Given the description of an element on the screen output the (x, y) to click on. 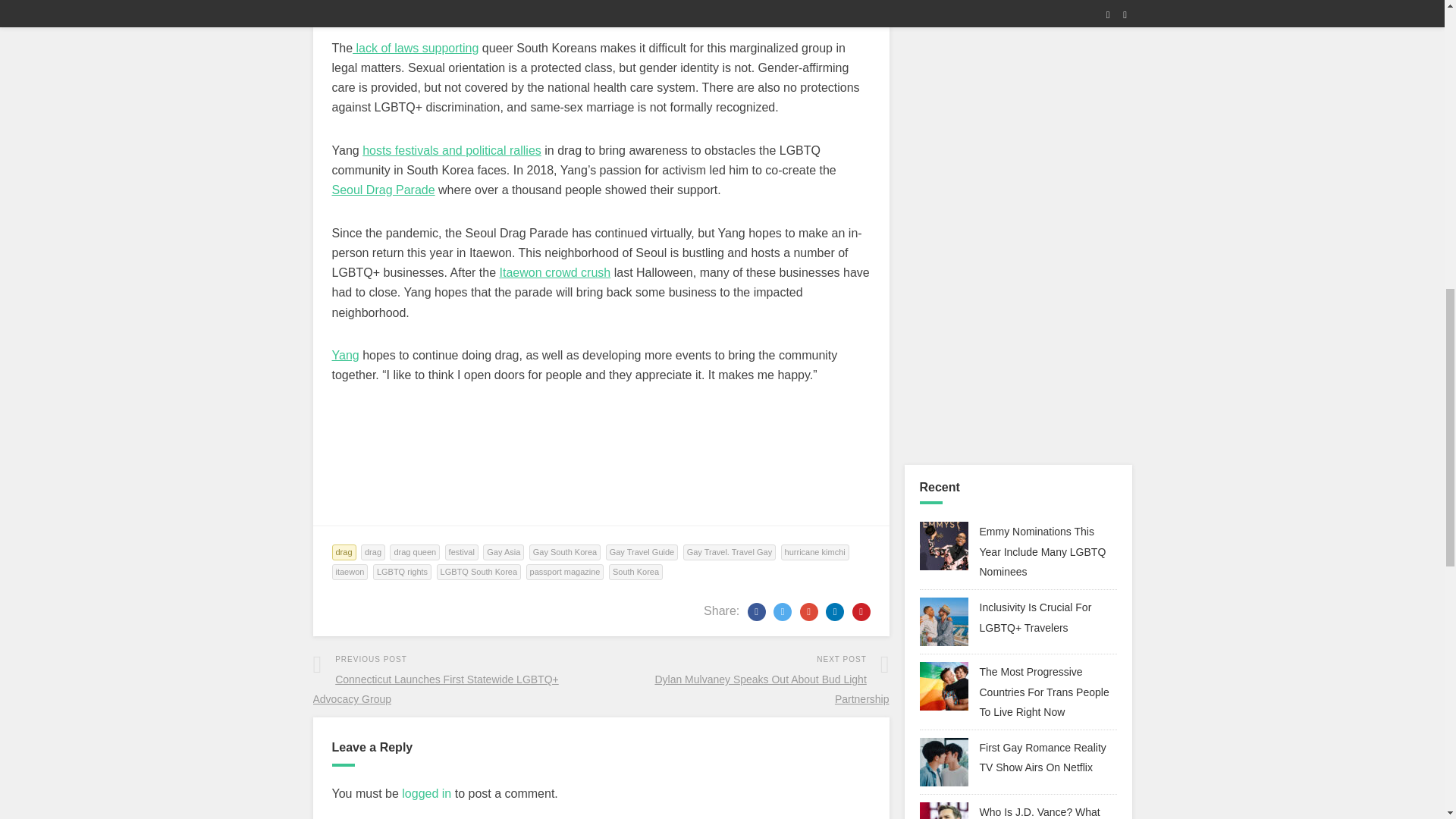
3rd party ad content (1017, 149)
3rd party ad content (1017, 354)
3rd party ad content (1017, 20)
3rd party ad content (607, 485)
